Given the description of an element on the screen output the (x, y) to click on. 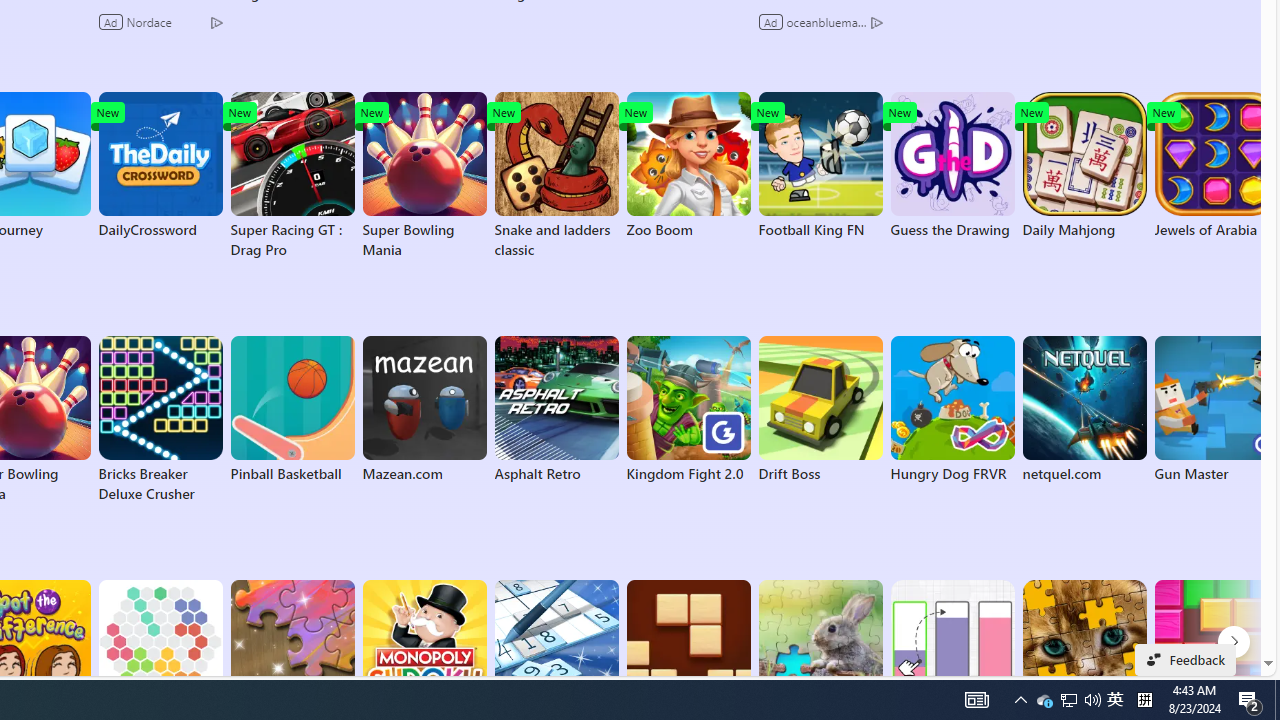
Football King FN (820, 165)
Gun Master (1216, 409)
